Given the description of an element on the screen output the (x, y) to click on. 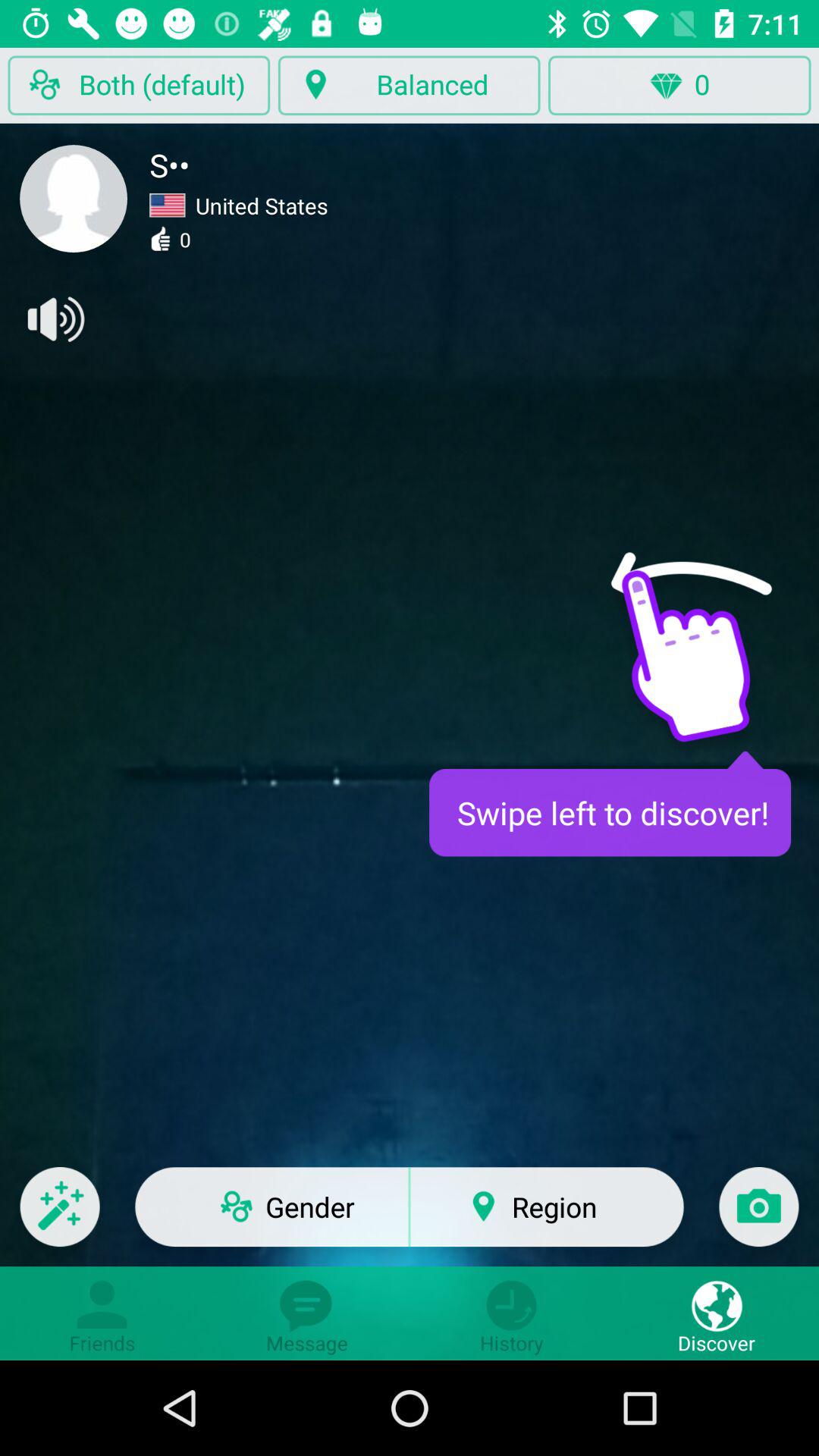
select contact (73, 198)
